Given the description of an element on the screen output the (x, y) to click on. 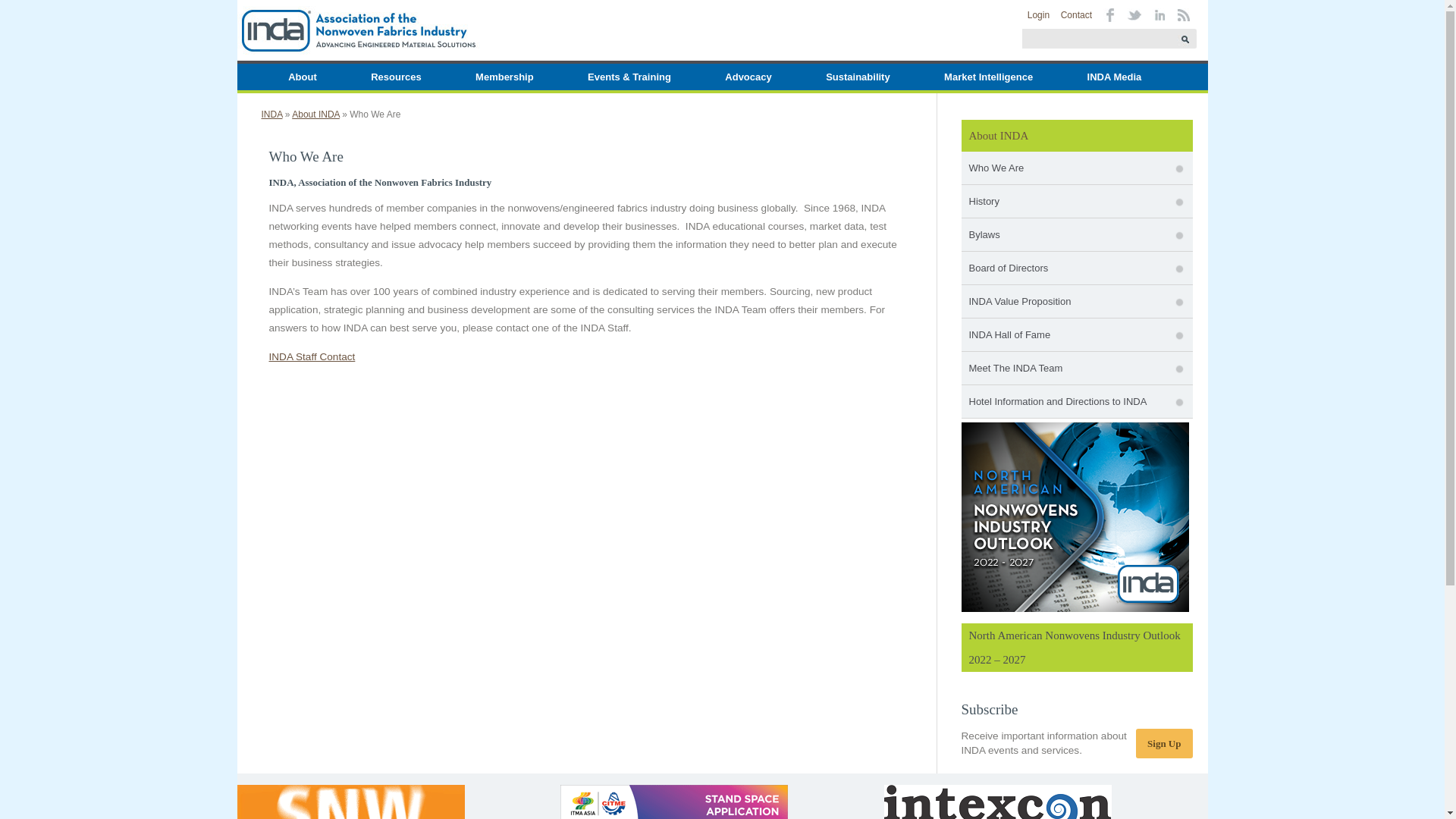
Resources (395, 76)
INDA LOGO (357, 30)
Login (1038, 14)
Go to INDA. (271, 113)
Go to About INDA. (315, 113)
Contact (1076, 14)
About (302, 76)
